Given the description of an element on the screen output the (x, y) to click on. 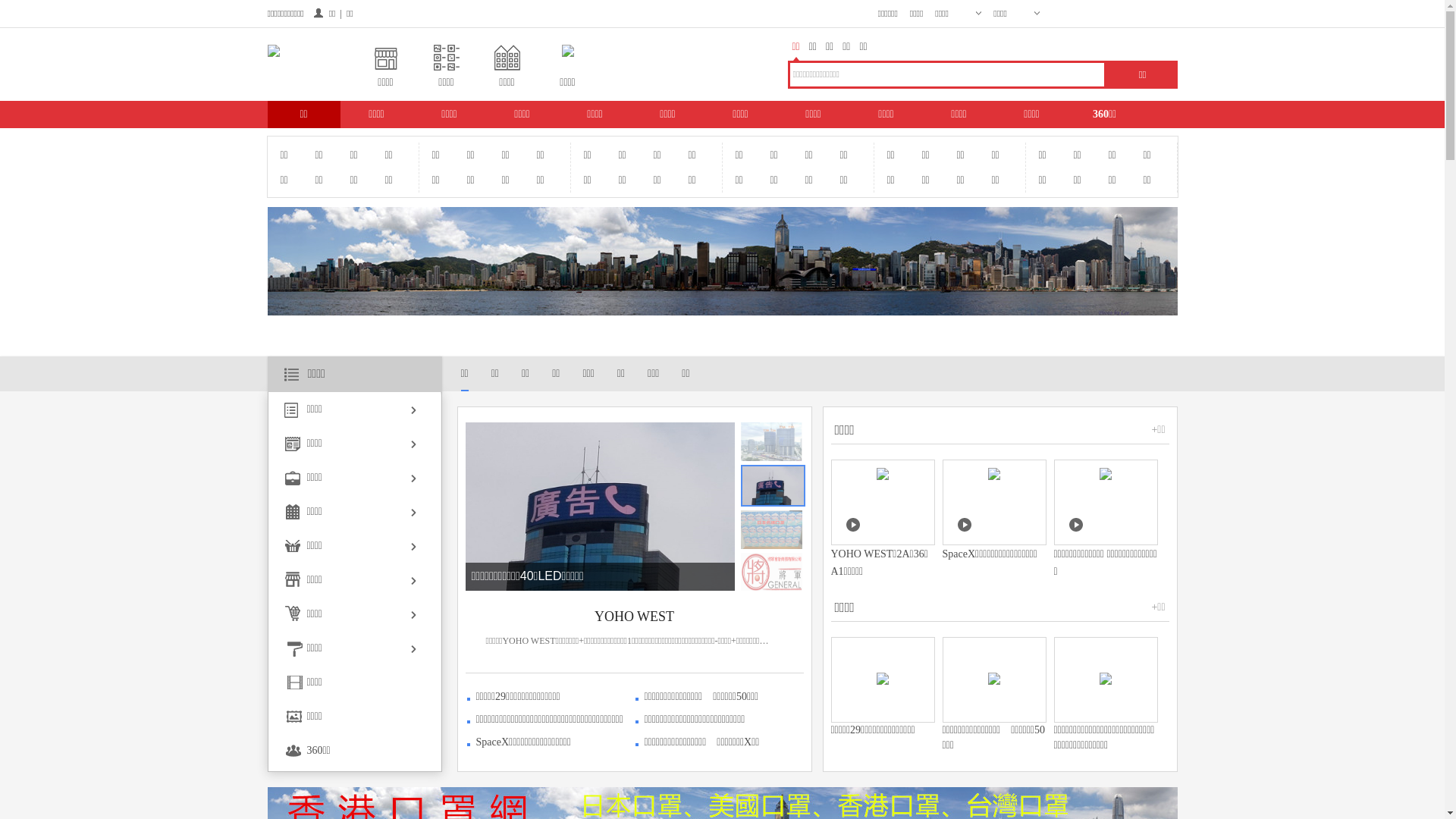
YOHO WEST Element type: text (335, 575)
YOHO WEST Element type: text (634, 616)
